Given the description of an element on the screen output the (x, y) to click on. 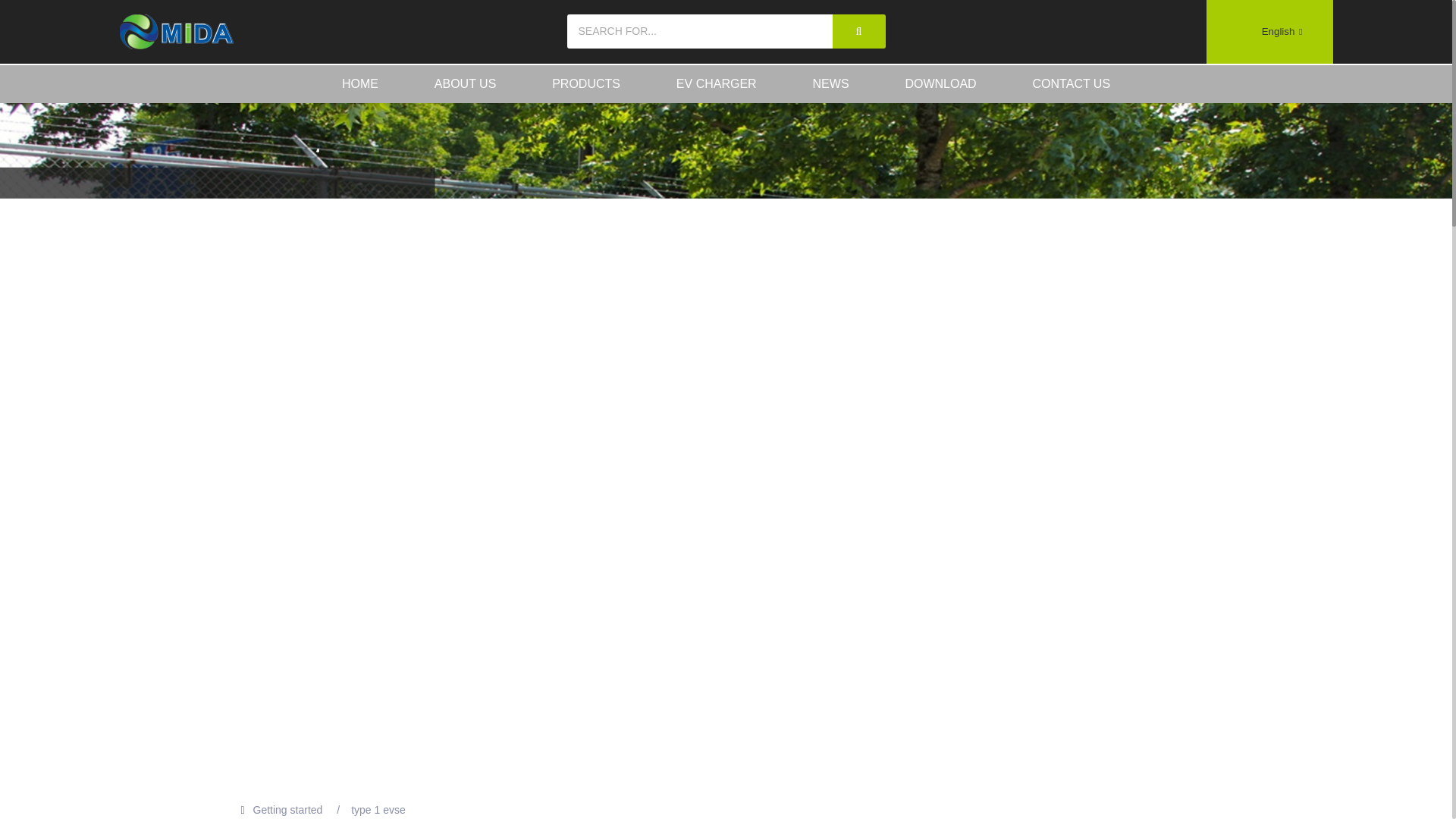
HOME (359, 84)
ABOUT US (464, 84)
type 1 evse (378, 809)
English (1269, 30)
PRODUCTS (585, 84)
NEWS (831, 84)
EV CHARGER (716, 84)
Getting started (288, 809)
DOWNLOAD (940, 84)
CONTACT US (1071, 84)
